Given the description of an element on the screen output the (x, y) to click on. 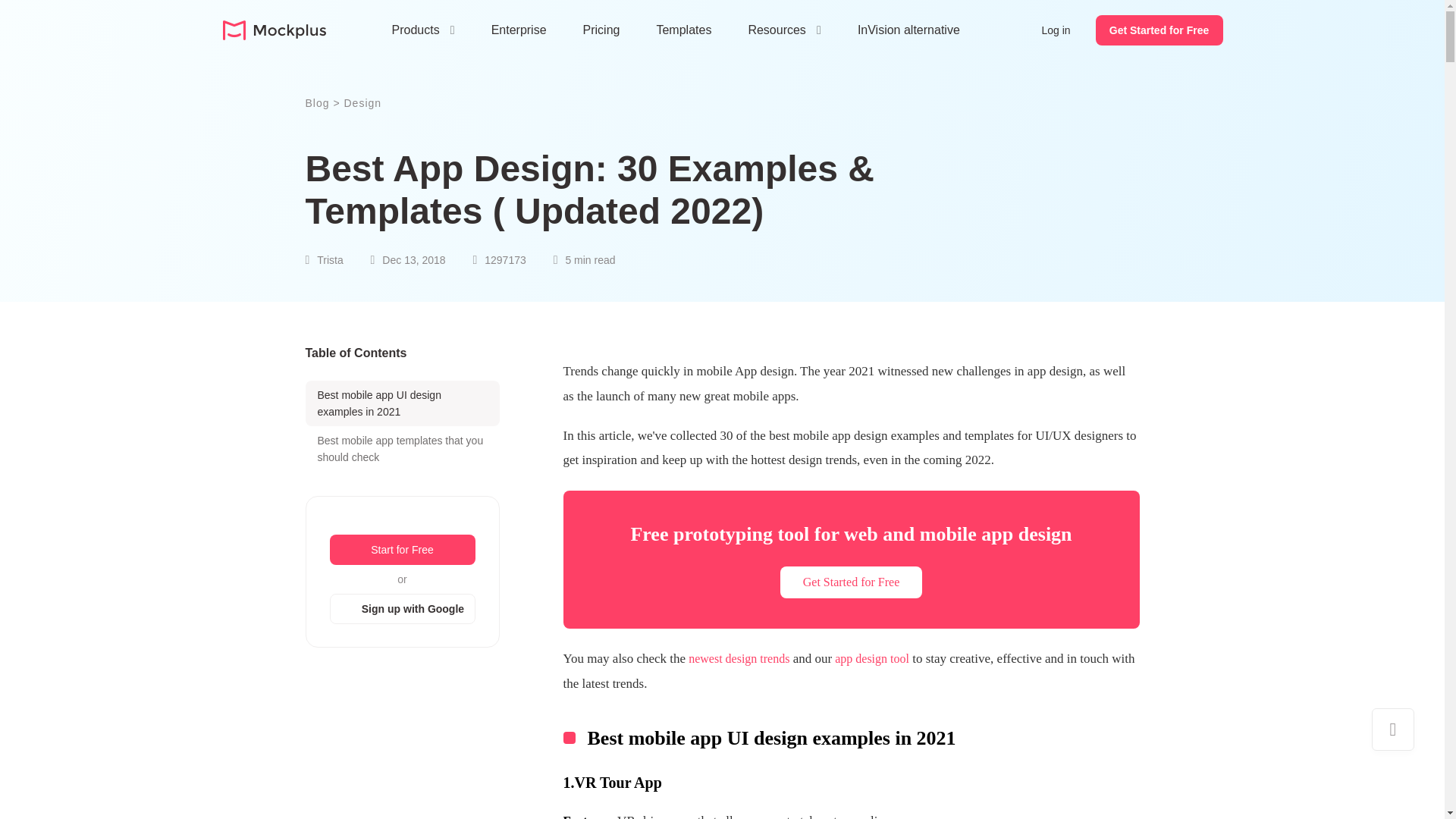
Best mobile app templates that you should check (401, 449)
 newest design trends (737, 658)
 app design tool (869, 658)
Enterprise (519, 30)
Best mobile app UI design examples in 2021 (401, 403)
InVision alternative (908, 30)
Start for Free (401, 549)
Templates (683, 30)
Design (362, 102)
